Given the description of an element on the screen output the (x, y) to click on. 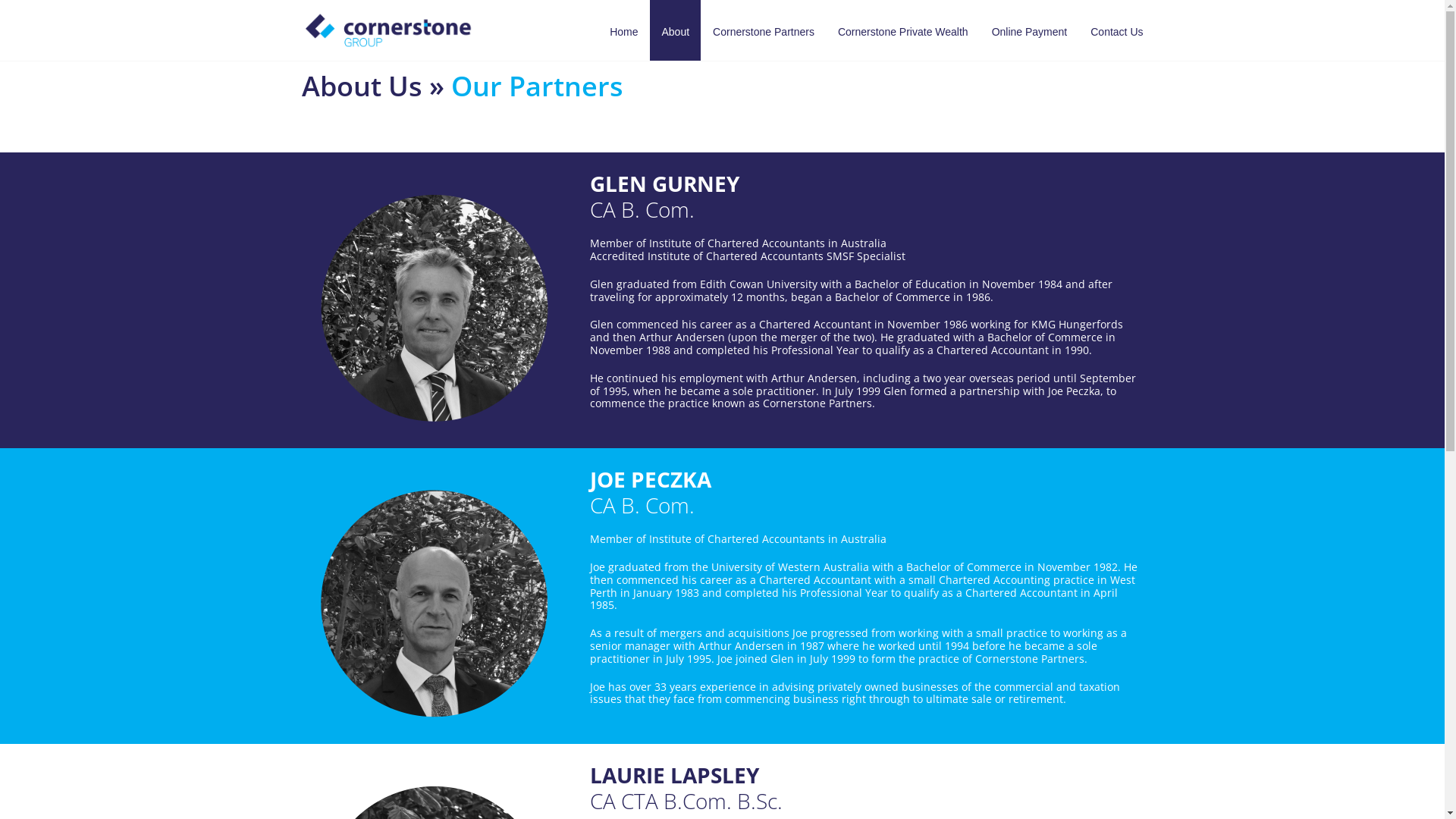
Cornerstone Private Wealth Element type: text (902, 30)
Cornerstone Partners Element type: text (763, 30)
Online Payment Element type: text (1029, 30)
Building your wealth and obtaining financial security Element type: hover (387, 29)
About Element type: text (674, 30)
Contact Us Element type: text (1116, 30)
Home Element type: text (623, 30)
